Given the description of an element on the screen output the (x, y) to click on. 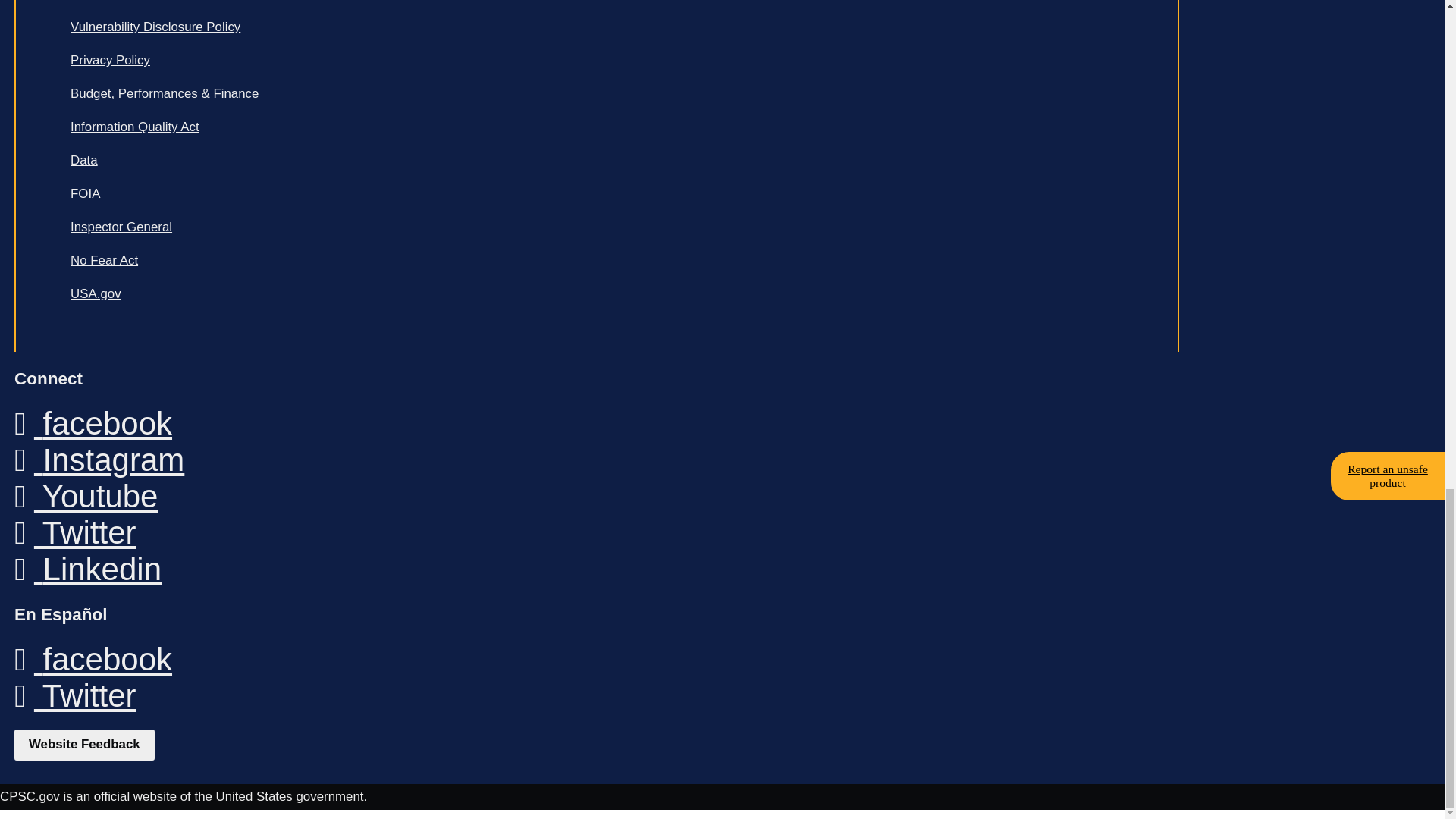
Data (328, 160)
Vulnerability Disclosure Policy (328, 27)
CPSC Linkedin (87, 569)
Accessibility (328, 5)
Information Quality Act (328, 127)
CPSC Youtube (85, 496)
Inspector General (328, 227)
Privacy Policy (328, 60)
CPSC Facebook (92, 423)
CPSC Twitter (74, 533)
CPSC Instagram (99, 460)
FOIA (328, 193)
